Given the description of an element on the screen output the (x, y) to click on. 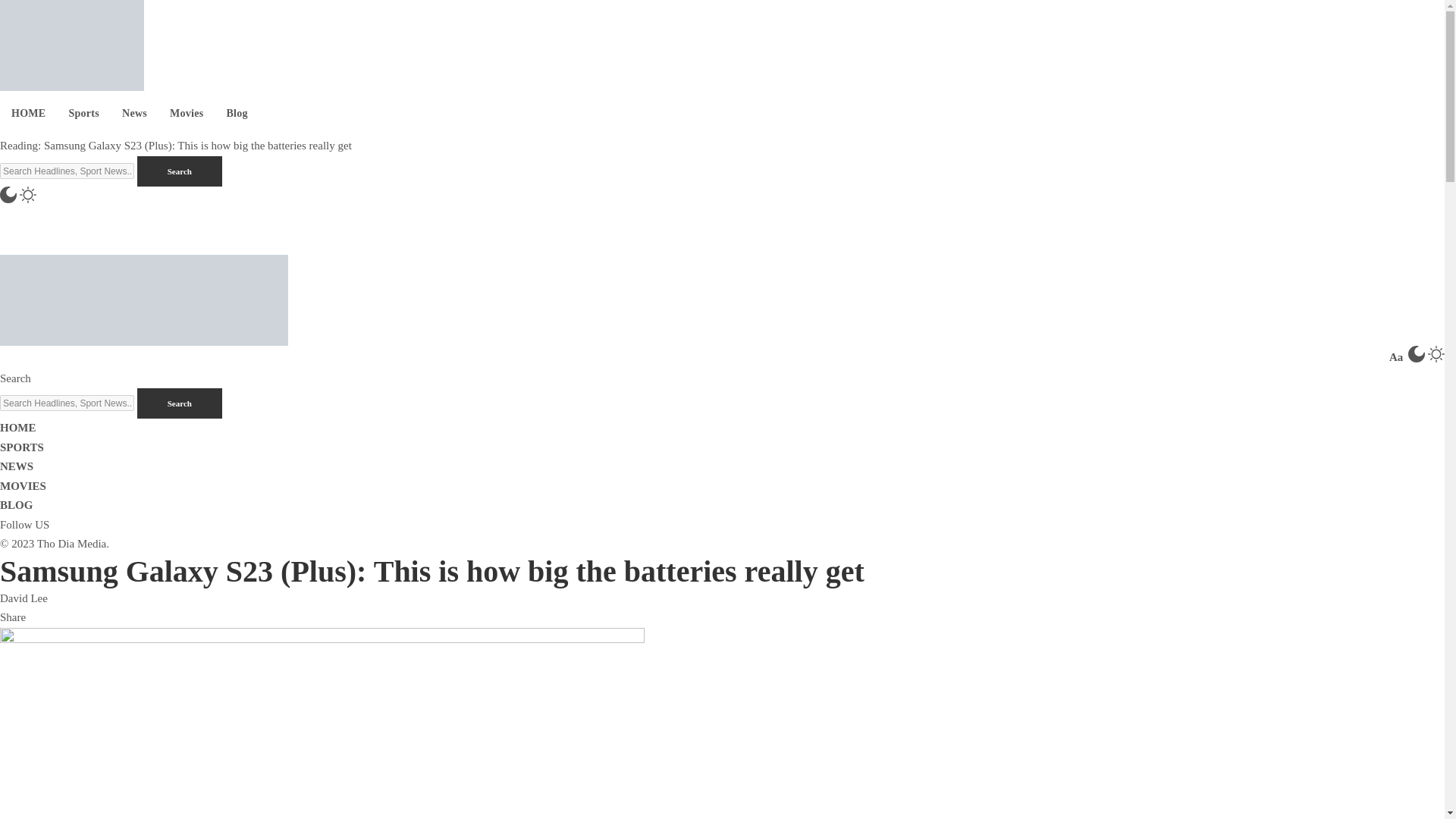
Sports (83, 113)
NEWS (16, 466)
Search (179, 403)
Tho Dia Media (144, 298)
Search (179, 403)
BLOG (16, 504)
David Lee (24, 597)
HOME (18, 427)
Search (179, 171)
Movies (186, 113)
